Given the description of an element on the screen output the (x, y) to click on. 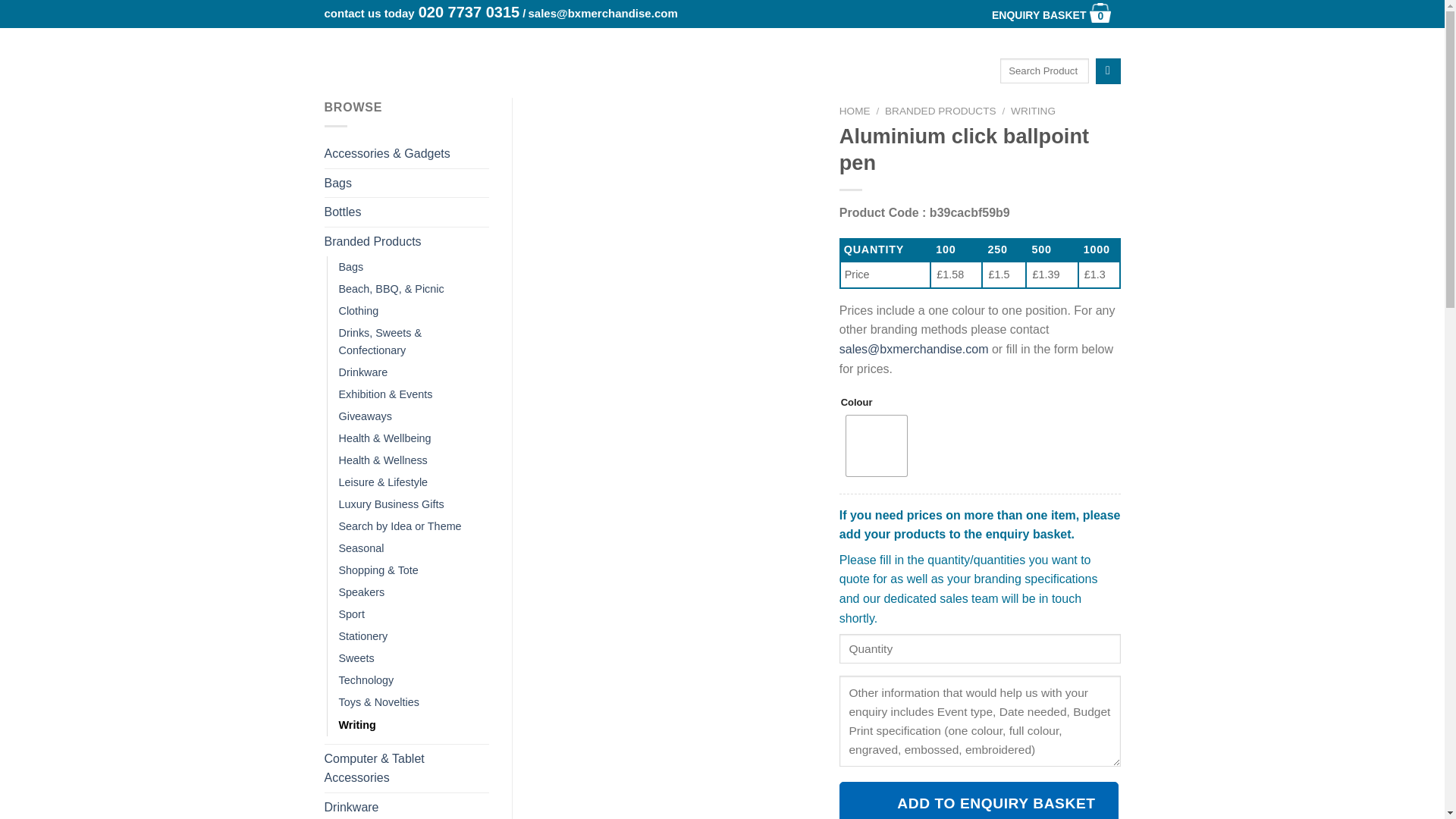
020 7737 0315 (469, 12)
BX Merchandise - Promotional Gifts and Promotional Products (394, 47)
ECO PROMOTIONAL PRODUCTS (872, 42)
solid black,Silver (1038, 15)
PROMOTIONAL PRODUCTS (876, 445)
